Given the description of an element on the screen output the (x, y) to click on. 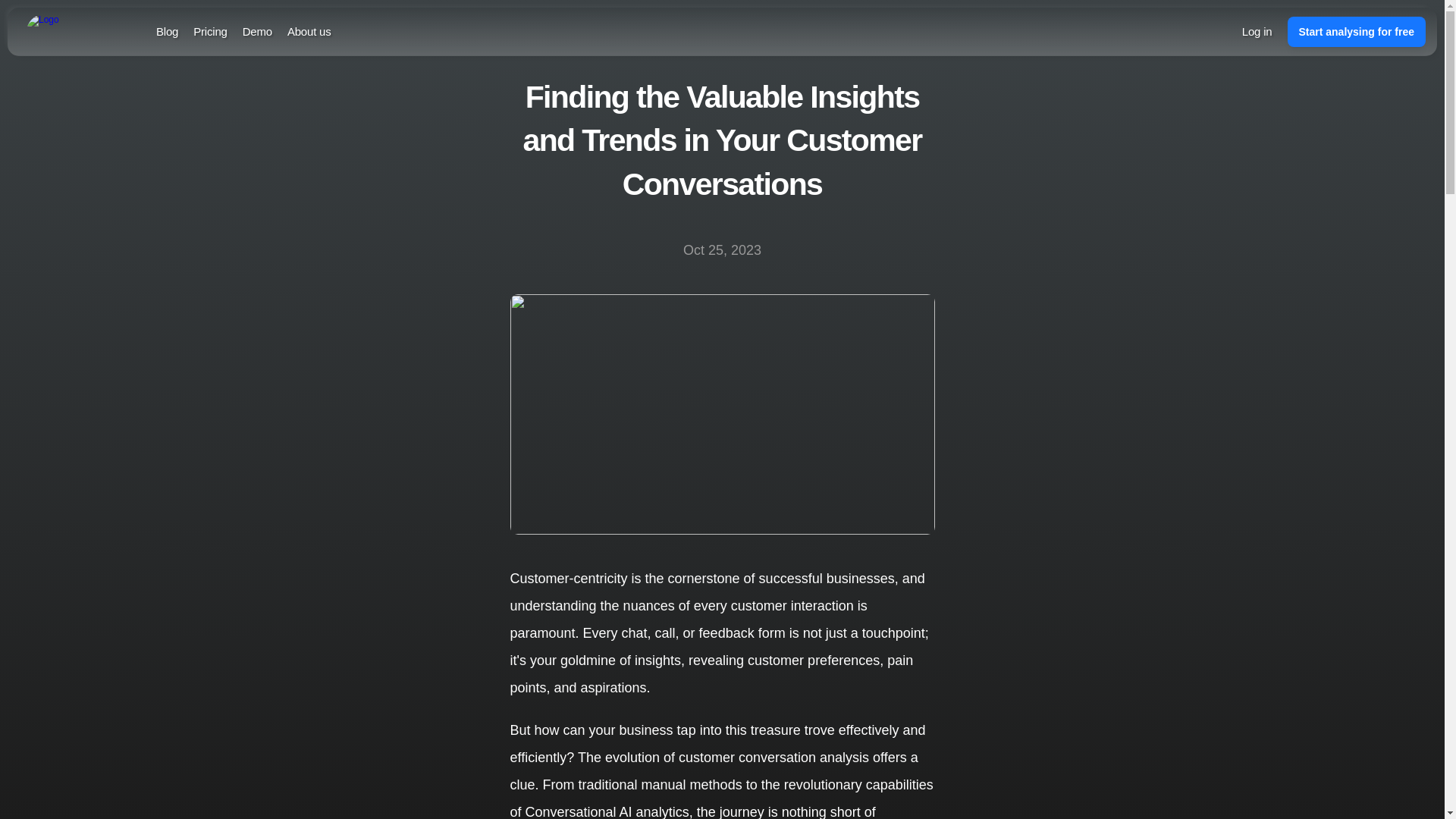
About us (308, 31)
Blog (166, 31)
Pricing (210, 31)
Start analysing for free (1356, 31)
Demo (257, 31)
Log in (1256, 31)
